Given the description of an element on the screen output the (x, y) to click on. 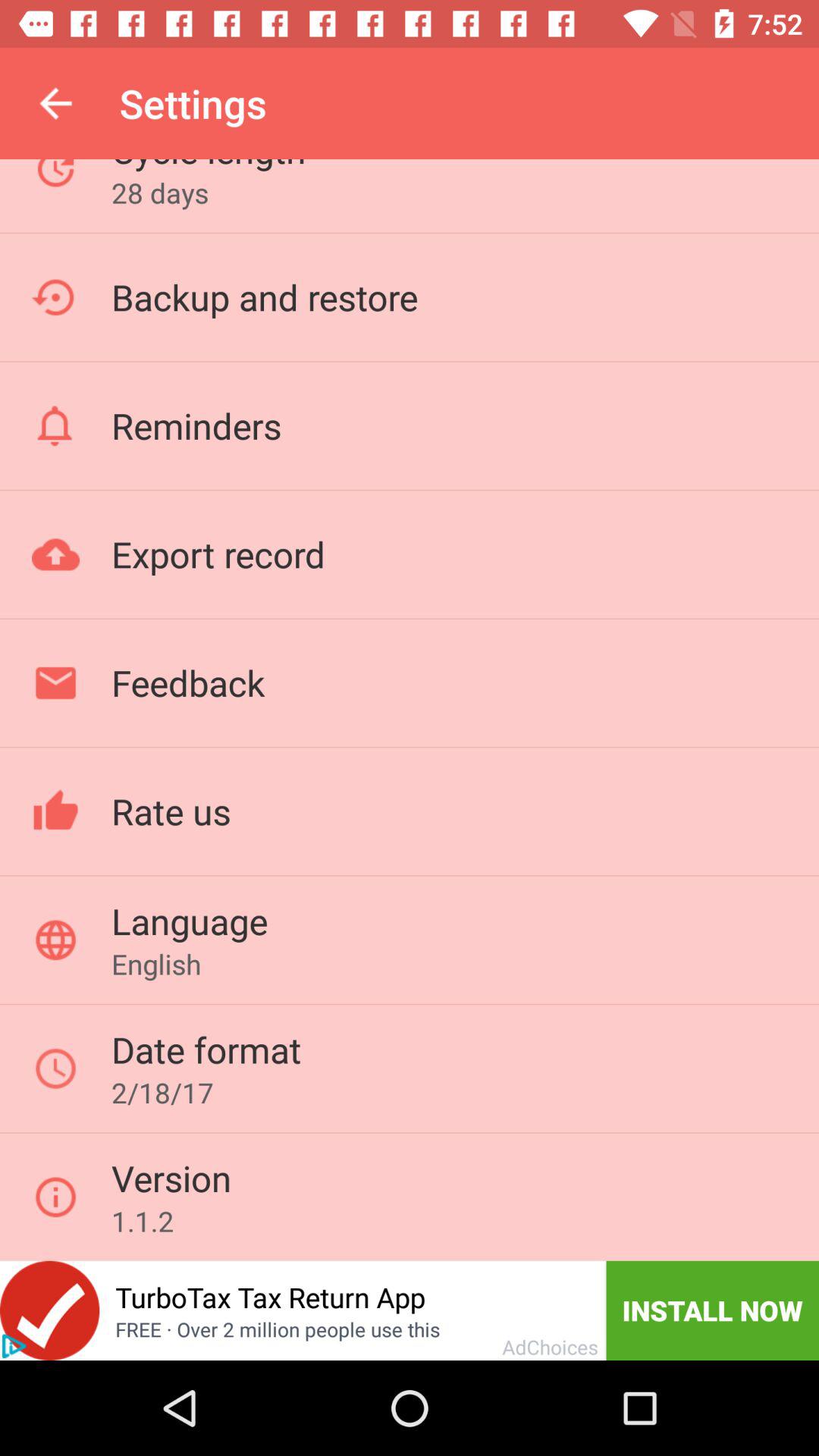
scroll to the 2/18/17 icon (162, 1092)
